Given the description of an element on the screen output the (x, y) to click on. 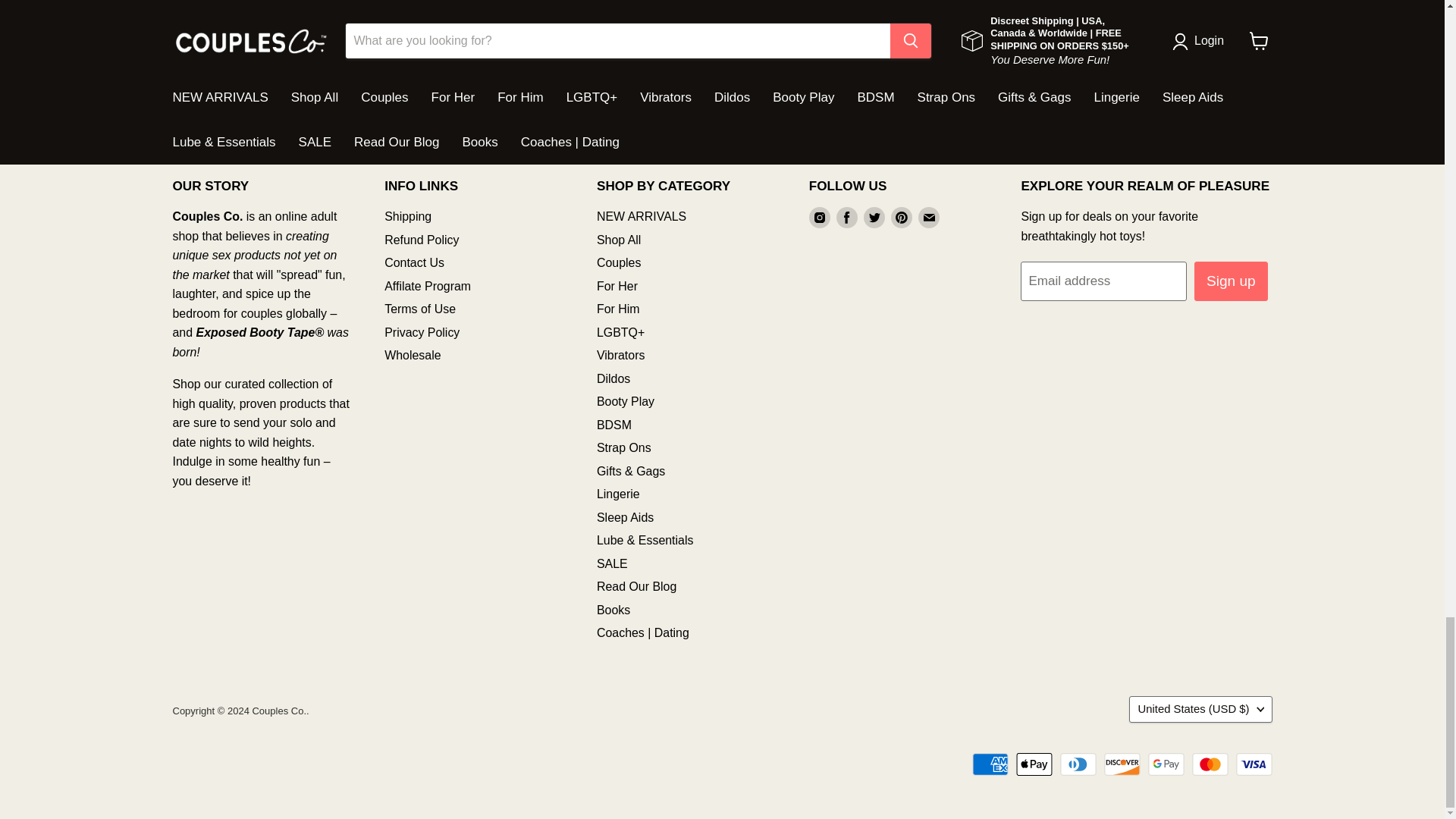
Twitter (874, 217)
Instagram (819, 217)
Pinterest (901, 217)
Email (928, 217)
Facebook (846, 217)
